Given the description of an element on the screen output the (x, y) to click on. 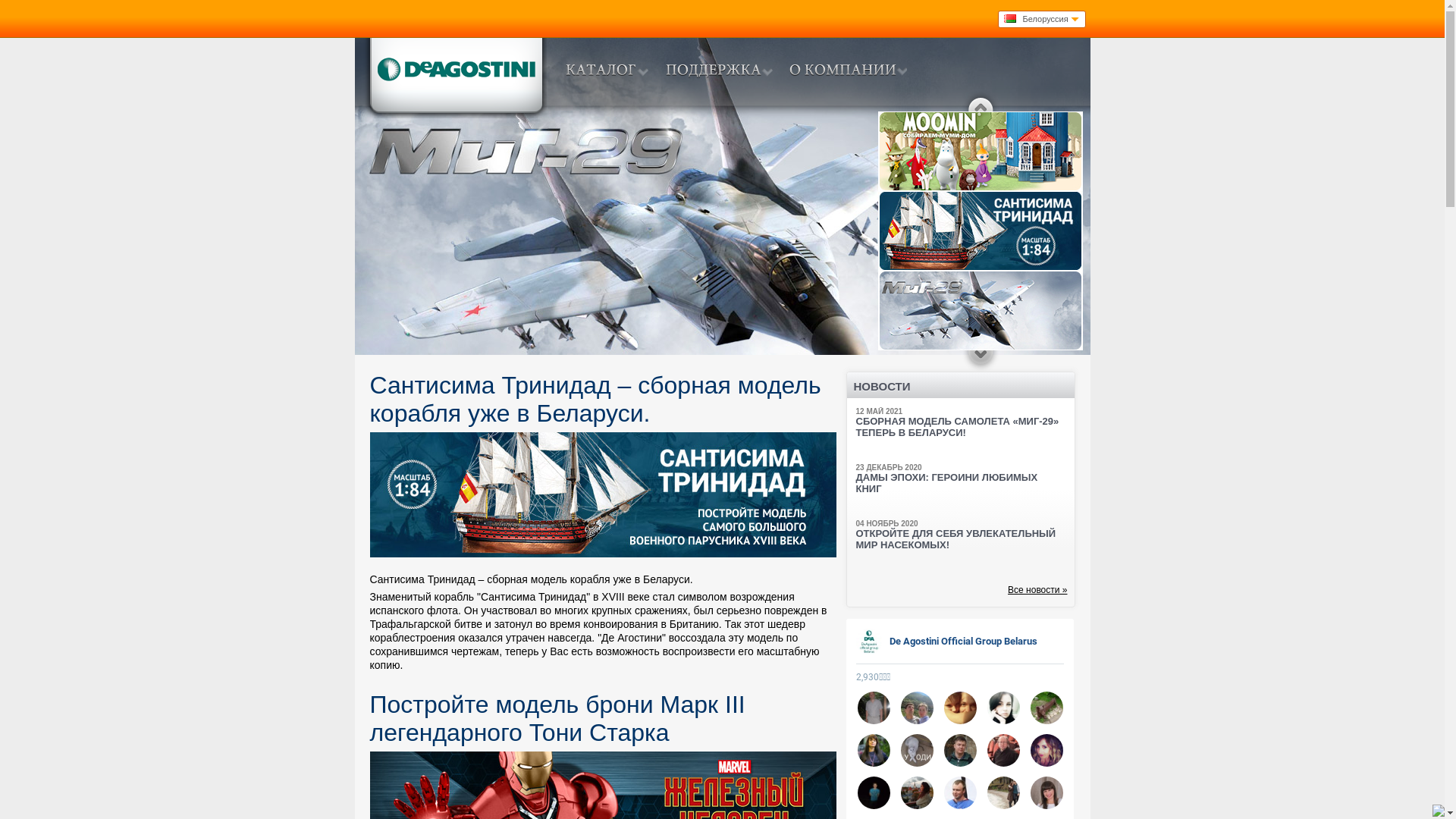
Scroll down Element type: text (980, 358)
DeAgostini Element type: hover (454, 77)
Scroll top Element type: text (980, 102)
